Given the description of an element on the screen output the (x, y) to click on. 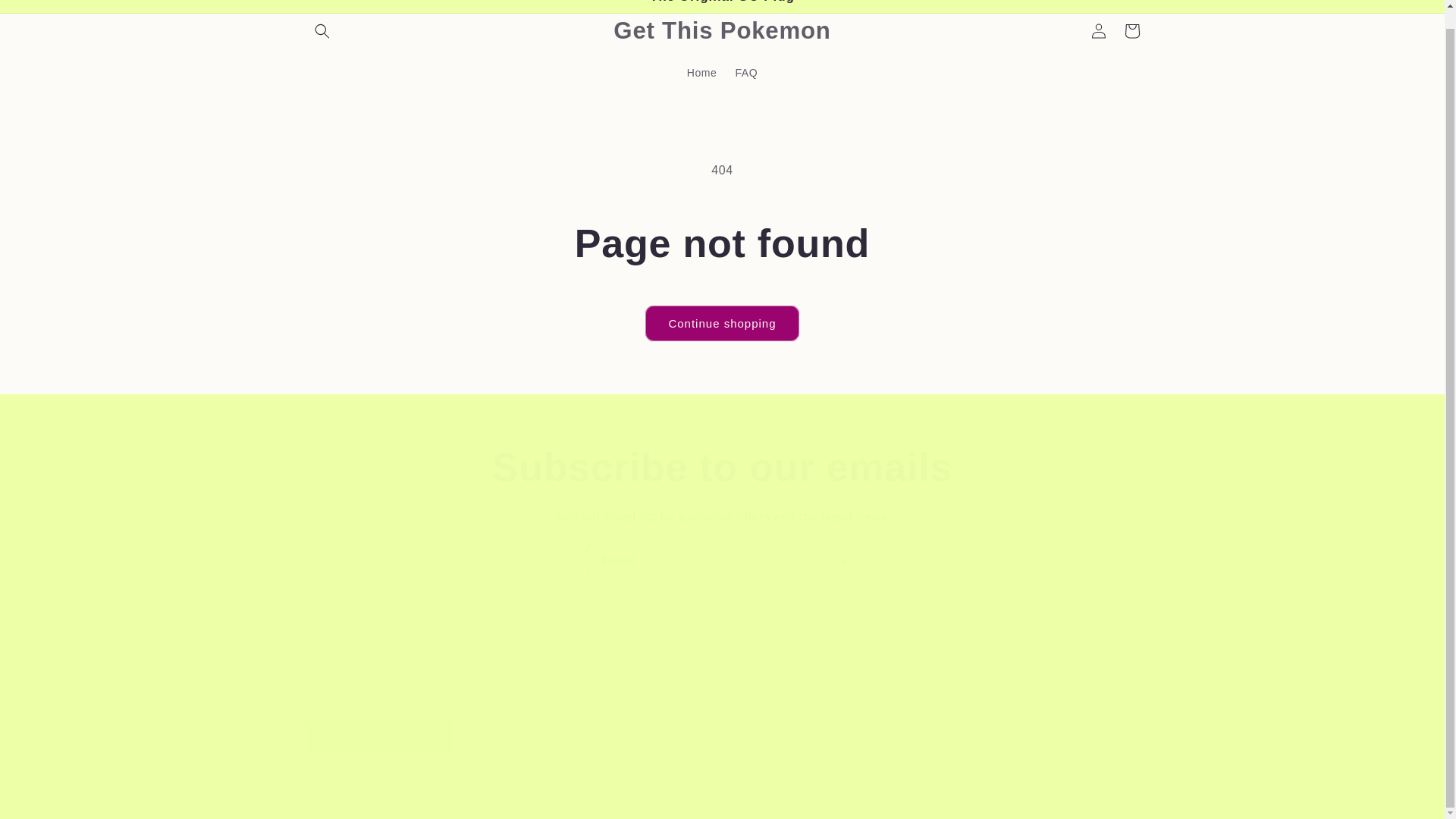
Skip to content (45, 8)
Cart (1131, 30)
Subscribe to our emails (721, 467)
Get This Pokemon (379, 789)
Email (722, 561)
FAQ (746, 71)
Get This Pokemon (721, 30)
Log in (1098, 30)
Continue shopping (721, 323)
